Given the description of an element on the screen output the (x, y) to click on. 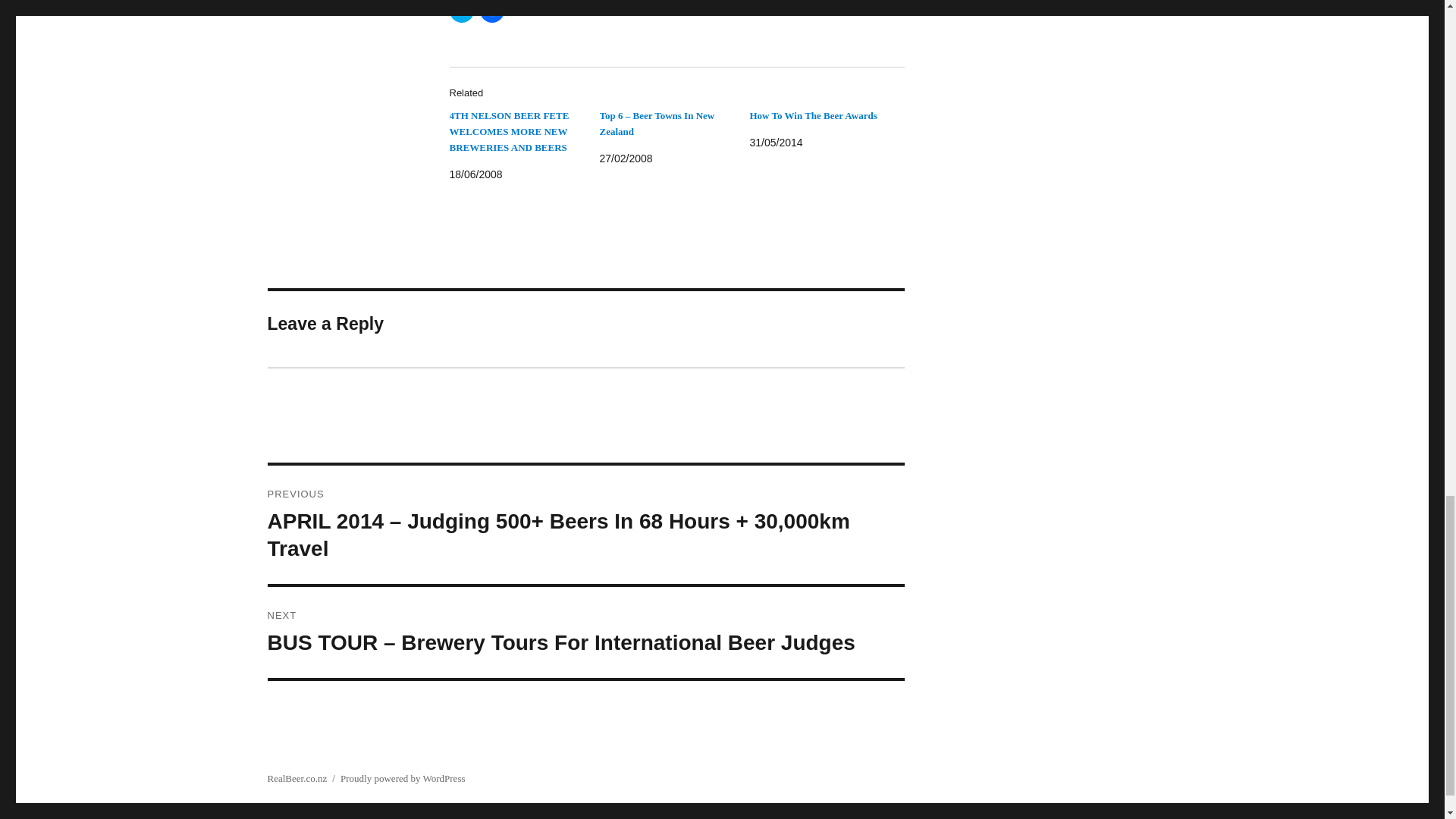
How To Win The Beer Awards (812, 115)
4TH NELSON BEER FETE WELCOMES MORE NEW BREWERIES AND BEERS (508, 131)
Click to share on Twitter (460, 11)
Click to share on Facebook (491, 11)
4TH NELSON BEER FETE WELCOMES MORE NEW BREWERIES AND BEERS (508, 131)
How To Win The Beer Awards (812, 115)
